Given the description of an element on the screen output the (x, y) to click on. 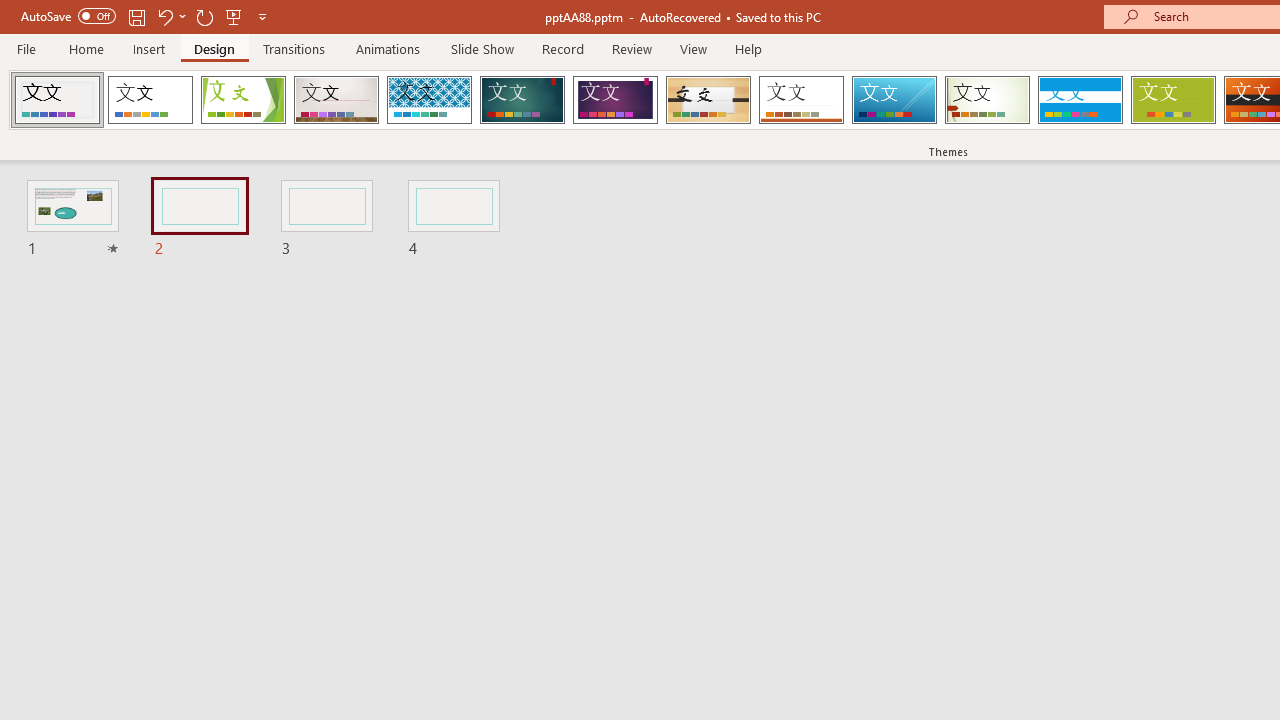
Basis Loading Preview... (1172, 100)
Facet (243, 100)
Retrospect Loading Preview... (801, 100)
Ion Boardroom Loading Preview... (615, 100)
Slice Loading Preview... (893, 100)
Organic Loading Preview... (708, 100)
